Given the description of an element on the screen output the (x, y) to click on. 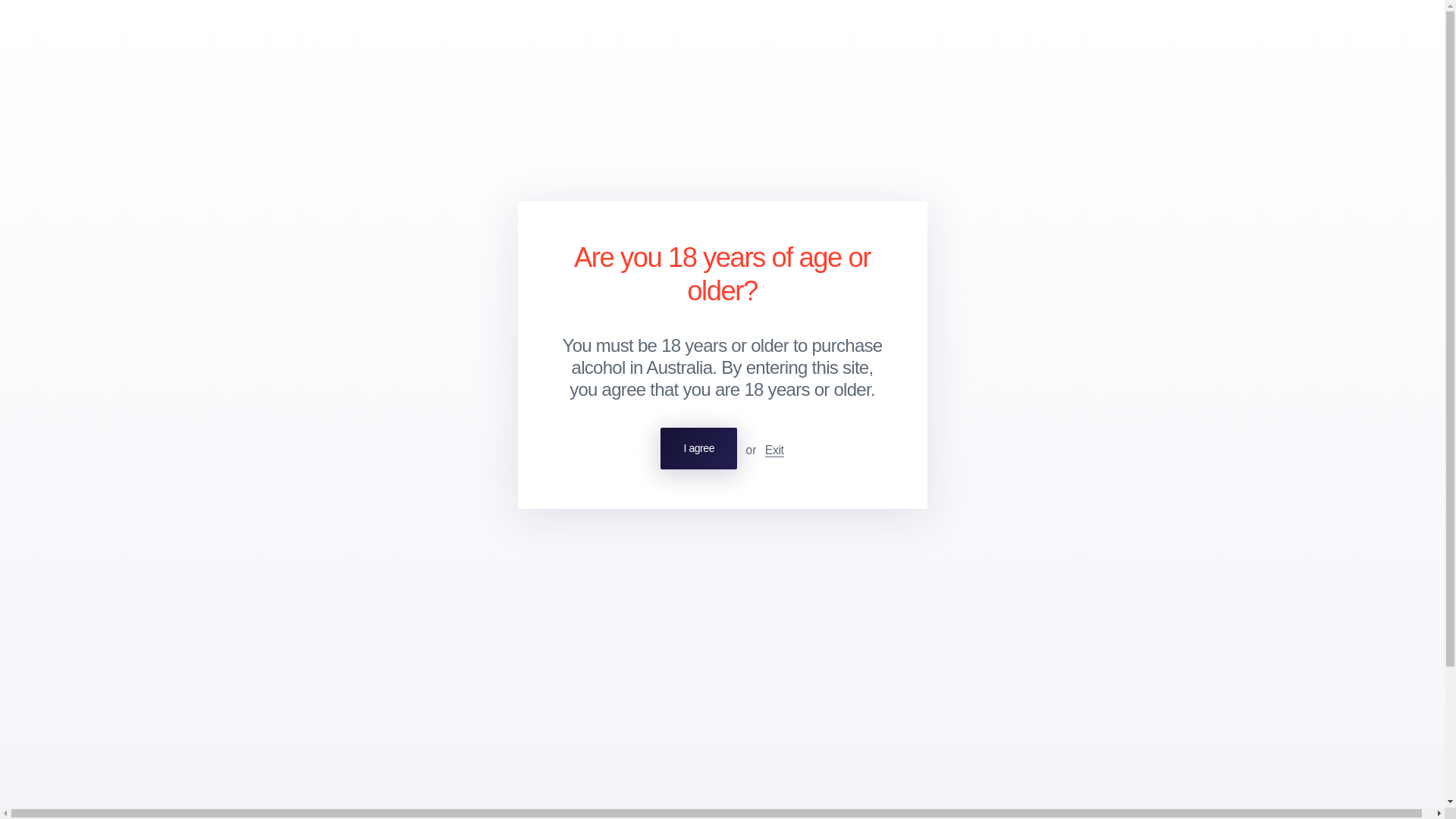
Julien Pineau (334, 589)
Sold out (472, 469)
JULIEN PINEAU (294, 264)
HOME (273, 111)
About (232, 32)
I agree (698, 448)
- (274, 469)
1 (316, 469)
Wholesale (177, 32)
Producers (111, 32)
Exit (774, 450)
Tasting notes (369, 347)
Search (1367, 33)
Wine details (289, 347)
Home (273, 111)
